Given the description of an element on the screen output the (x, y) to click on. 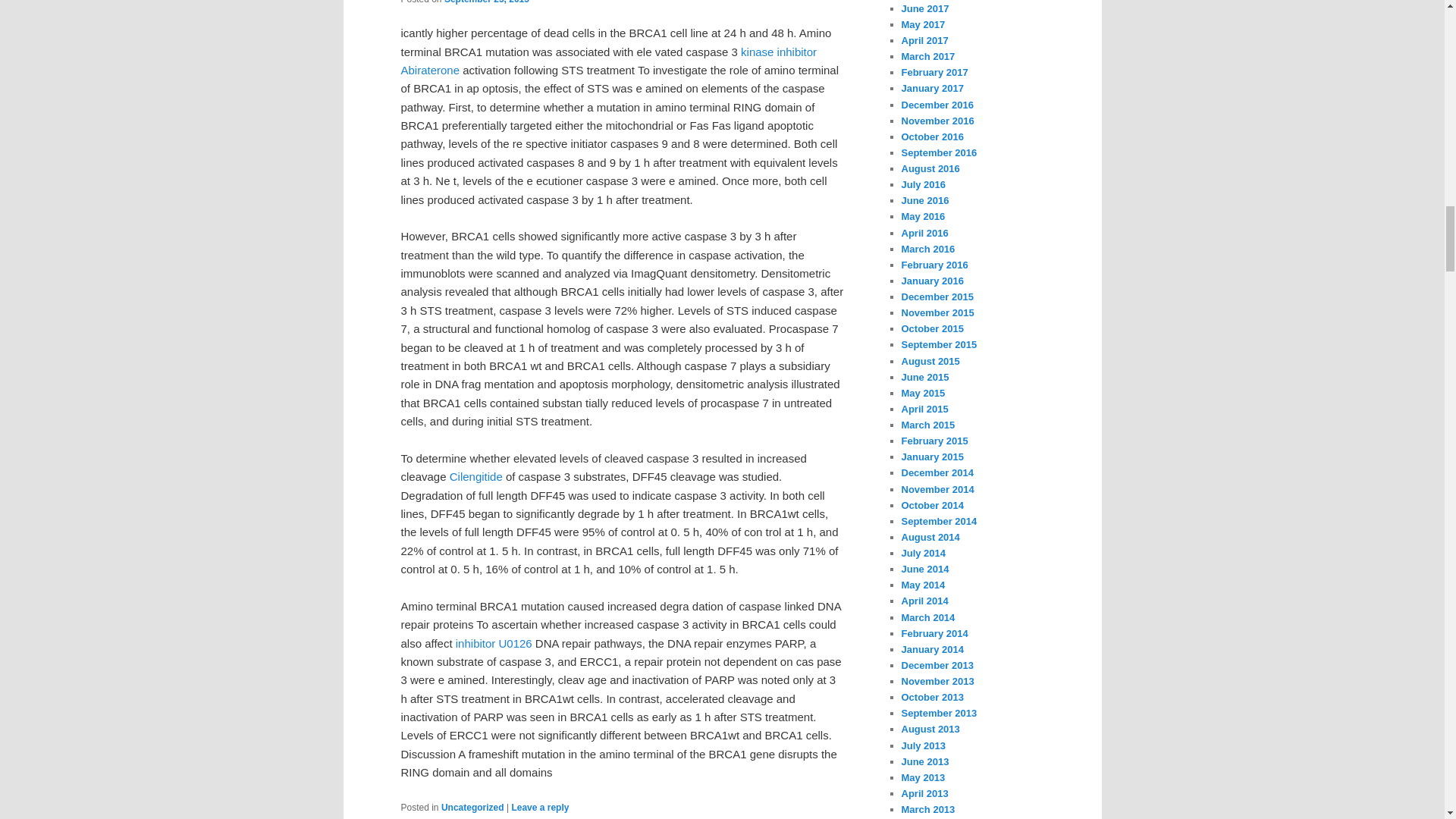
Leave a reply (540, 807)
Cilengitide (475, 476)
inhibitor U0126 (493, 643)
September 25, 2015 (486, 2)
Uncategorized (472, 807)
kinase inhibitor Abiraterone (608, 60)
